Given the description of an element on the screen output the (x, y) to click on. 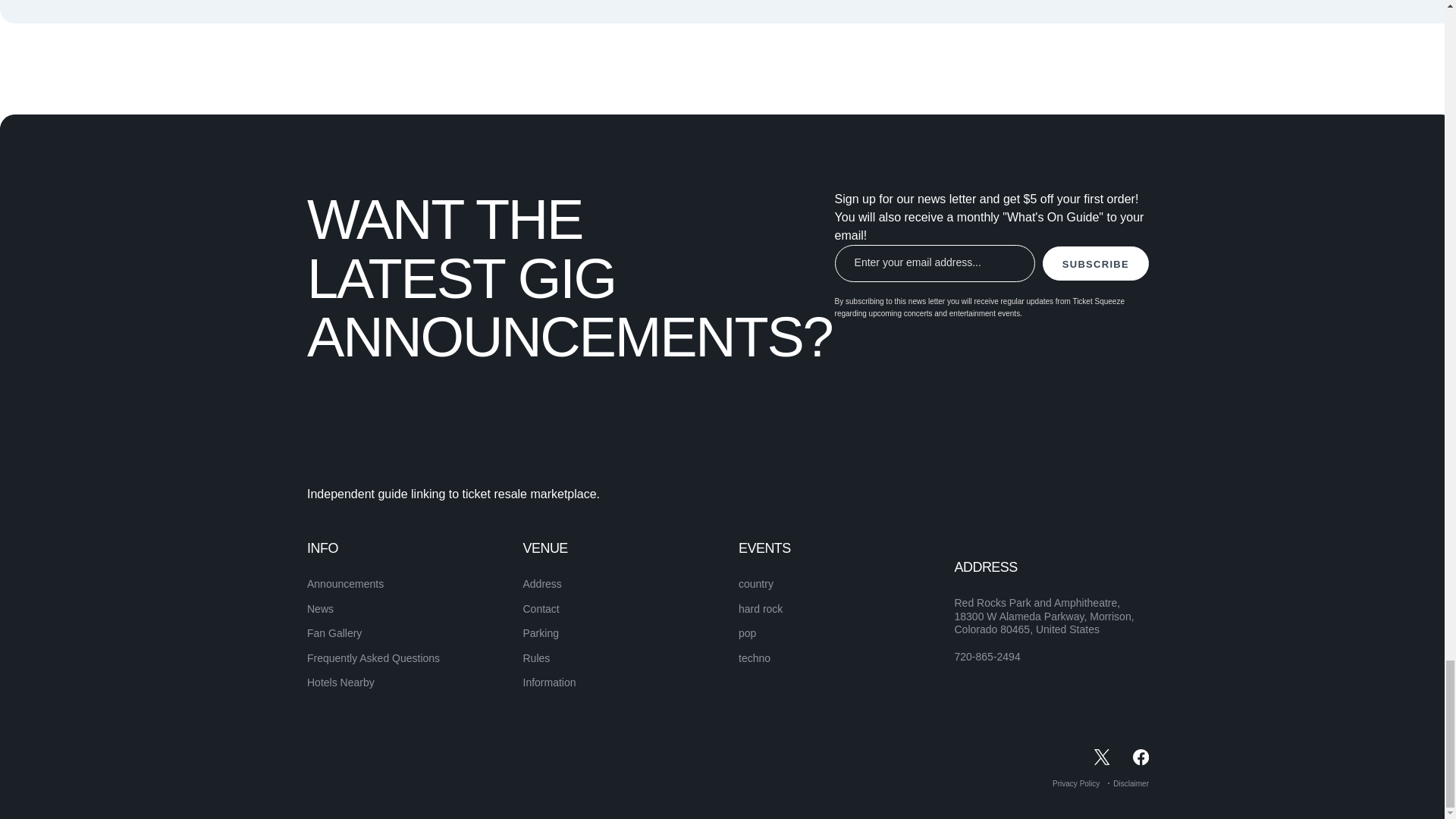
SUBSCRIBE (1095, 263)
Disclaimer (1130, 783)
Hotels Nearby (340, 682)
News (320, 608)
720-865-2494 (986, 657)
Address (542, 583)
Information (549, 682)
hard rock (760, 608)
techno (754, 657)
Privacy Policy (1075, 783)
Announcements (345, 583)
Frequently Asked Questions (373, 657)
Fan Gallery (334, 633)
Contact (540, 608)
Parking (540, 633)
